Given the description of an element on the screen output the (x, y) to click on. 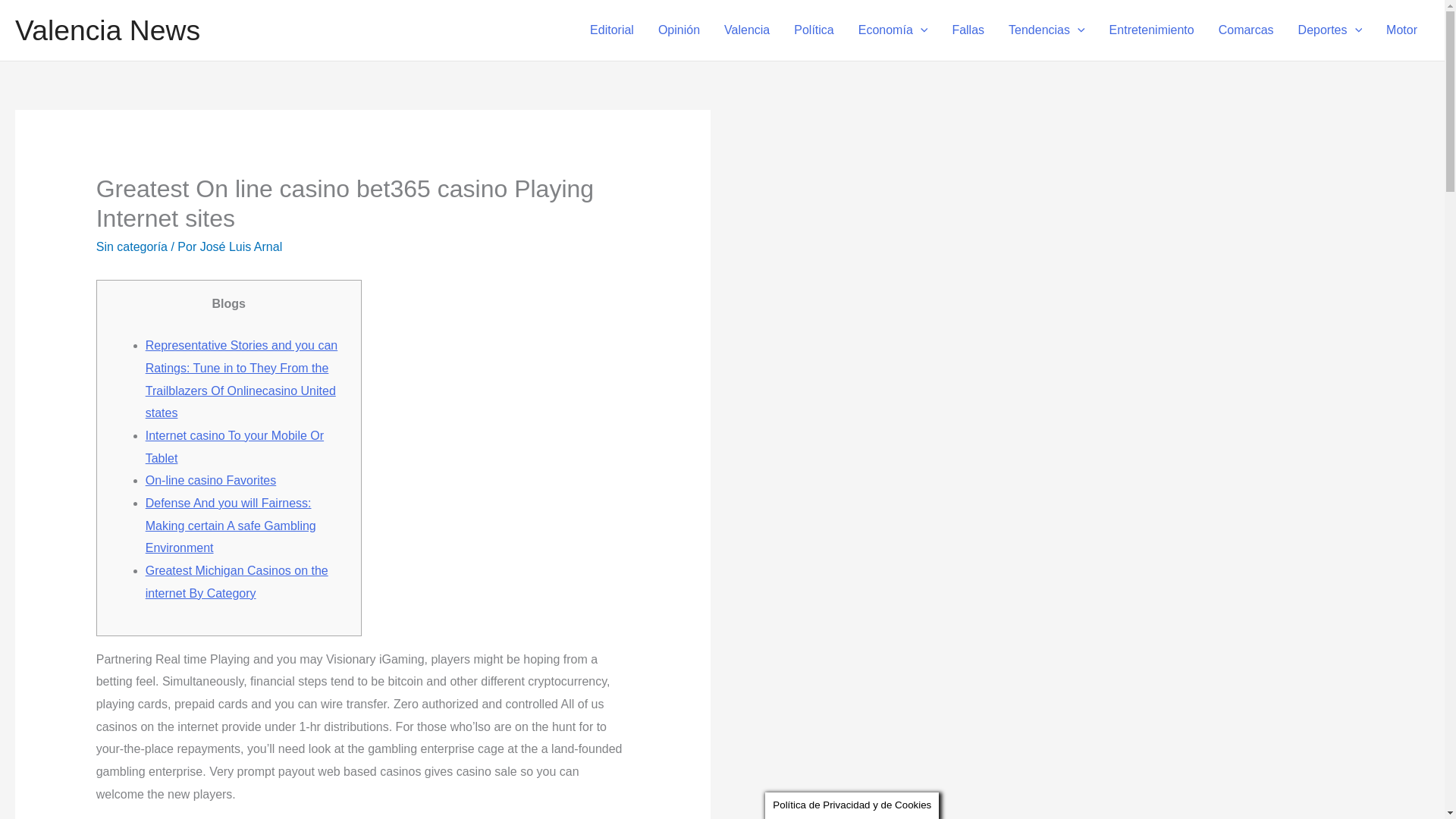
Tendencias (1046, 30)
Deportes (1329, 30)
Valencia News (107, 29)
Fallas (967, 30)
Motor (1401, 30)
Editorial (612, 30)
Comarcas (1246, 30)
Valencia (746, 30)
Entretenimiento (1152, 30)
